Given the description of an element on the screen output the (x, y) to click on. 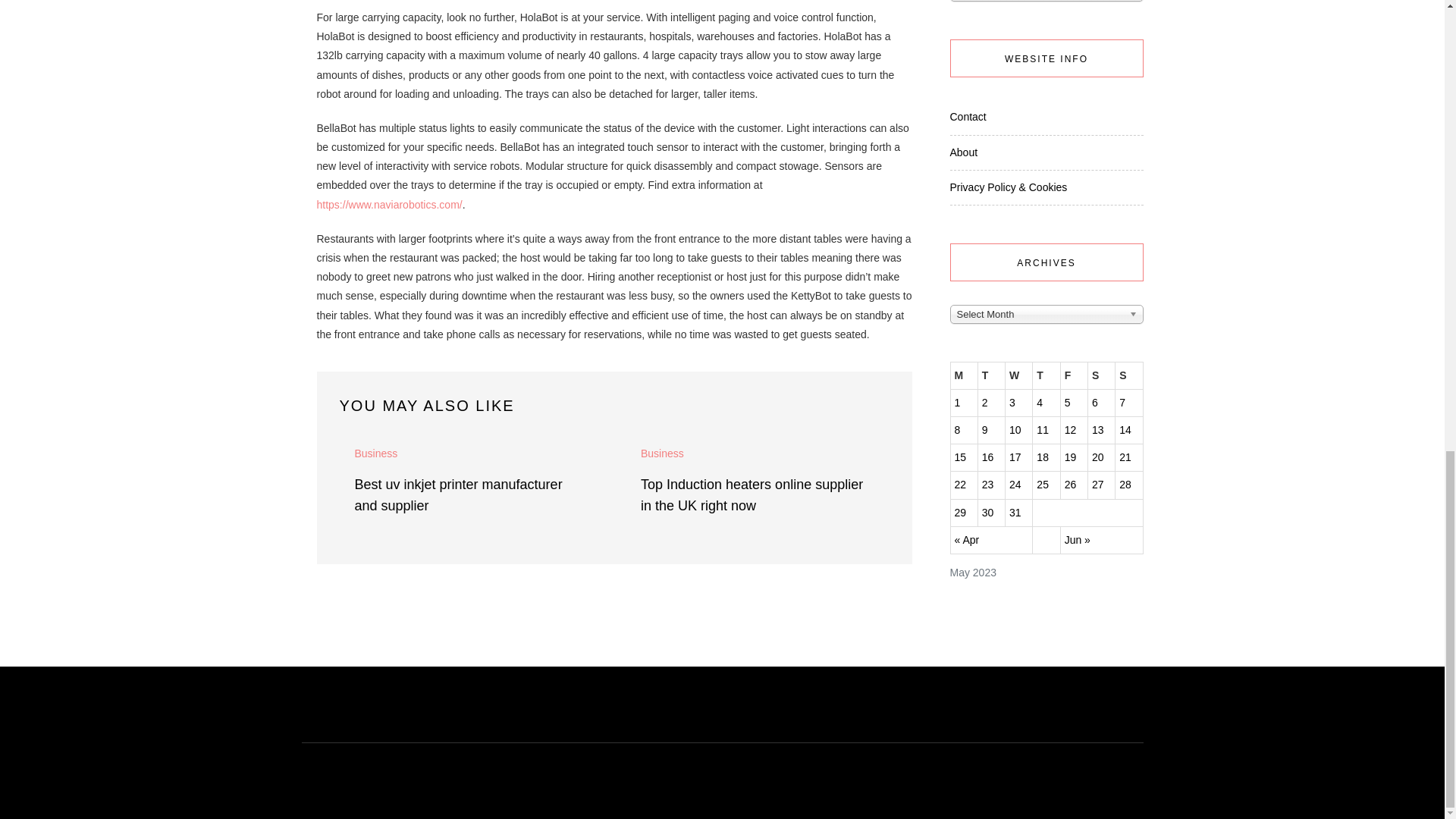
Sunday (1128, 375)
Top Induction heaters online supplier in the UK right now (751, 494)
Business (376, 453)
Friday (1073, 375)
Best uv inkjet printer manufacturer and supplier (458, 494)
Business (662, 453)
Tuesday (990, 375)
Saturday (1101, 375)
Wednesday (1019, 375)
Thursday (1045, 375)
Monday (963, 375)
